Given the description of an element on the screen output the (x, y) to click on. 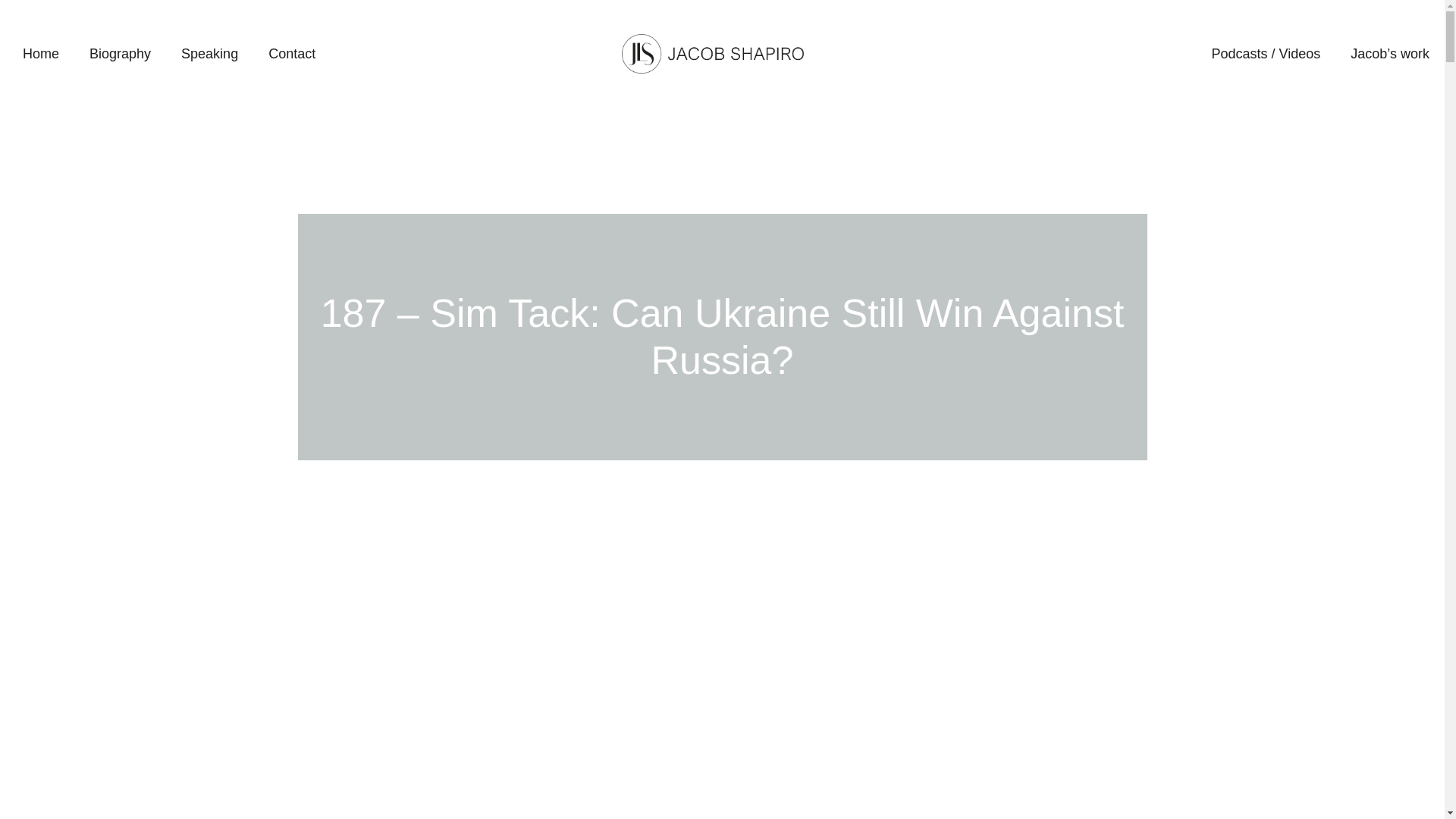
Speaking (209, 53)
Home (40, 53)
Contact (291, 53)
Biography (119, 53)
